Given the description of an element on the screen output the (x, y) to click on. 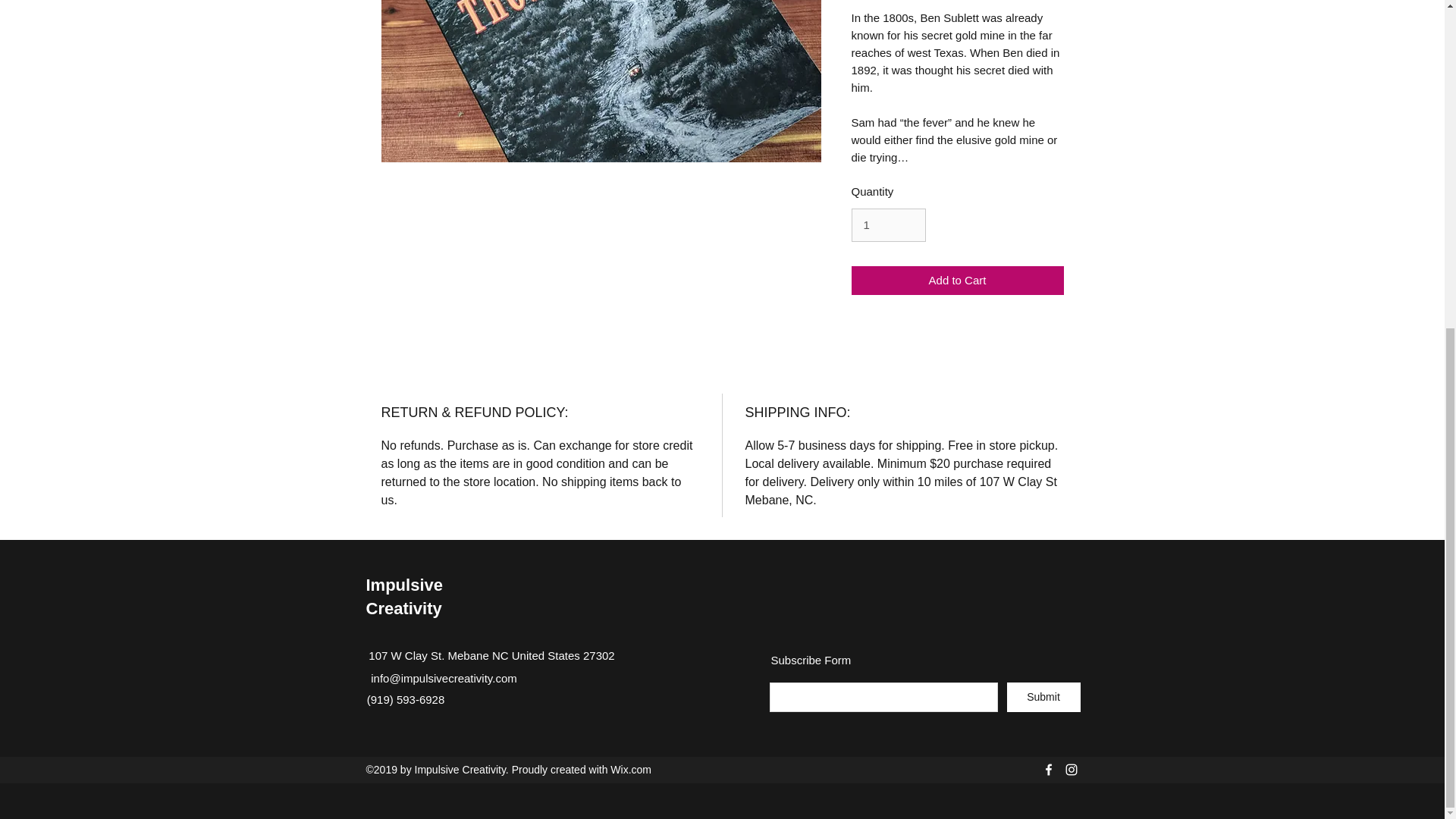
Impulsive Creativity (403, 596)
Add to Cart (956, 280)
1 (887, 224)
Submit (1043, 696)
